Given the description of an element on the screen output the (x, y) to click on. 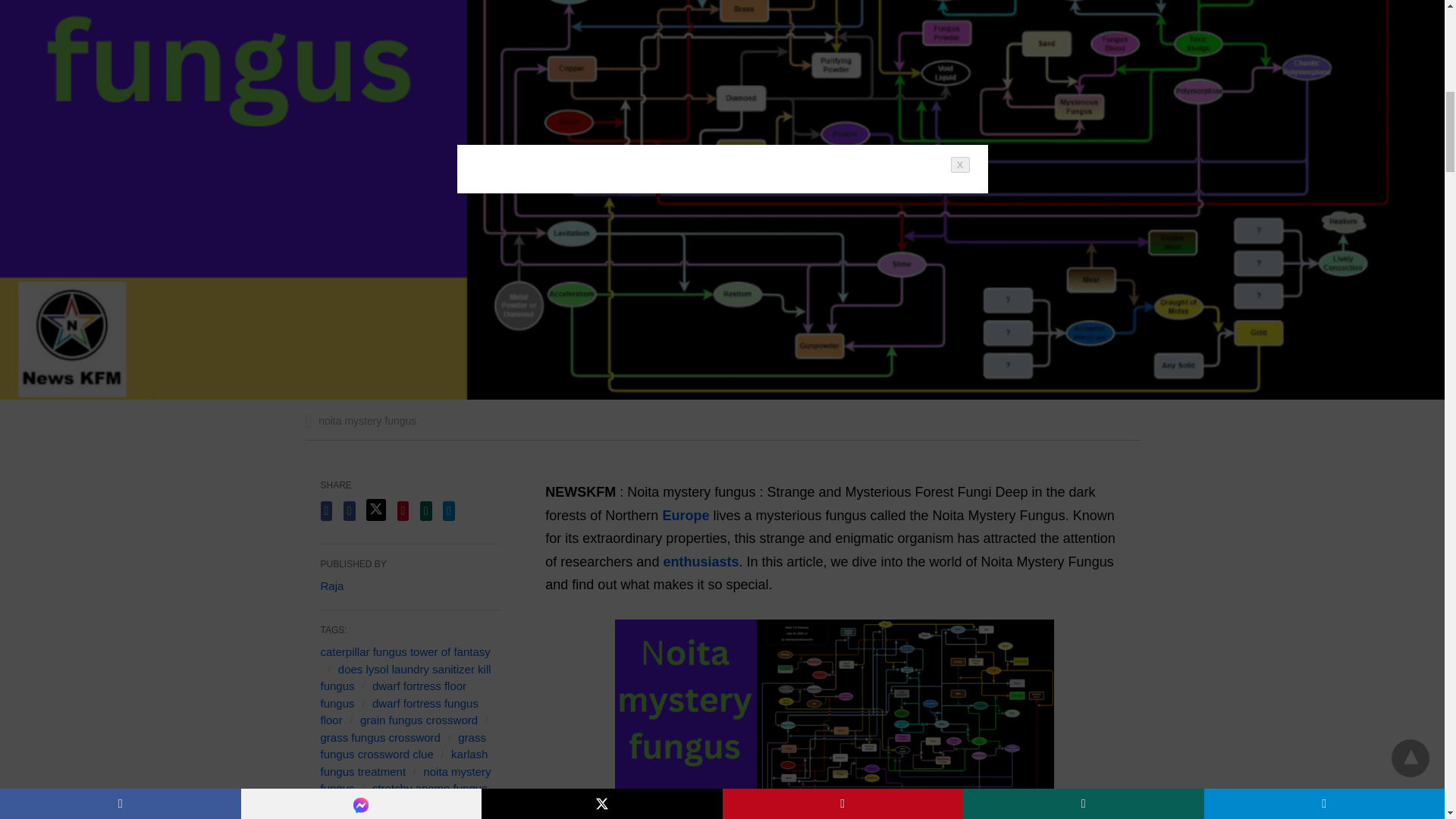
dwarf fortress floor fungus (392, 694)
karlash fungus treatment (403, 762)
grain fungus crossword (418, 719)
grass fungus crossword clue (402, 746)
noita mystery fungus (405, 779)
does lysol laundry sanitizer kill fungus (405, 677)
caterpillar fungus tower of fantasy (404, 651)
Europe (687, 515)
grass fungus crossword (379, 737)
Raja (331, 585)
enthusiasts (700, 561)
dwarf fortress fungus floor (398, 711)
